Given the description of an element on the screen output the (x, y) to click on. 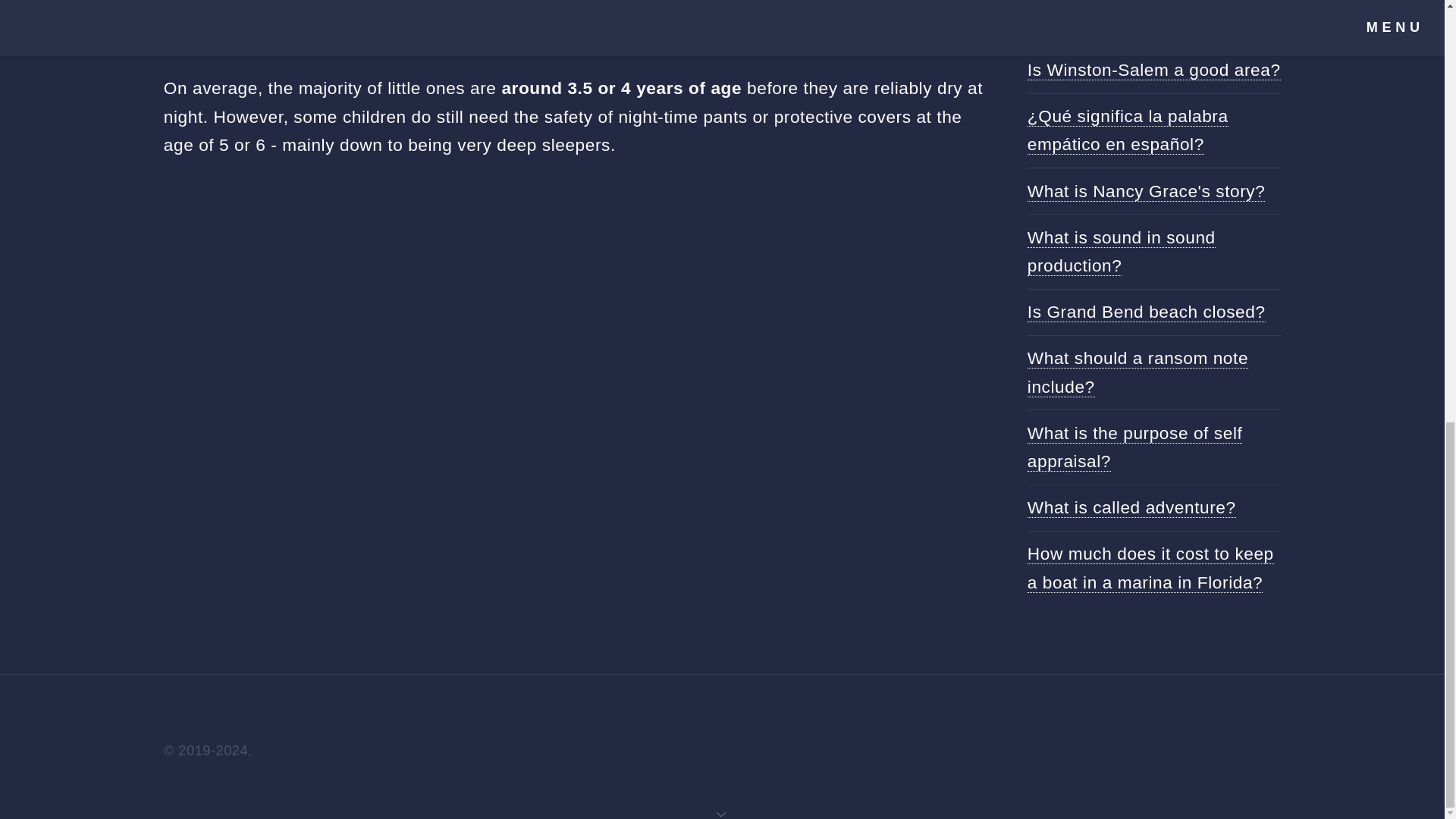
How much does it cost to keep a boat in a marina in Florida? (1150, 567)
What is sound in sound production? (1121, 251)
Is Winston-Salem a good area? (1154, 69)
What is called adventure? (1131, 507)
Is Grand Bend beach closed? (1146, 312)
What is the purpose of self appraisal? (1135, 447)
What is Nancy Grace's story? (1146, 190)
What should a ransom note include? (1137, 372)
What is the meaning of primacy effect? (1154, 17)
